Given the description of an element on the screen output the (x, y) to click on. 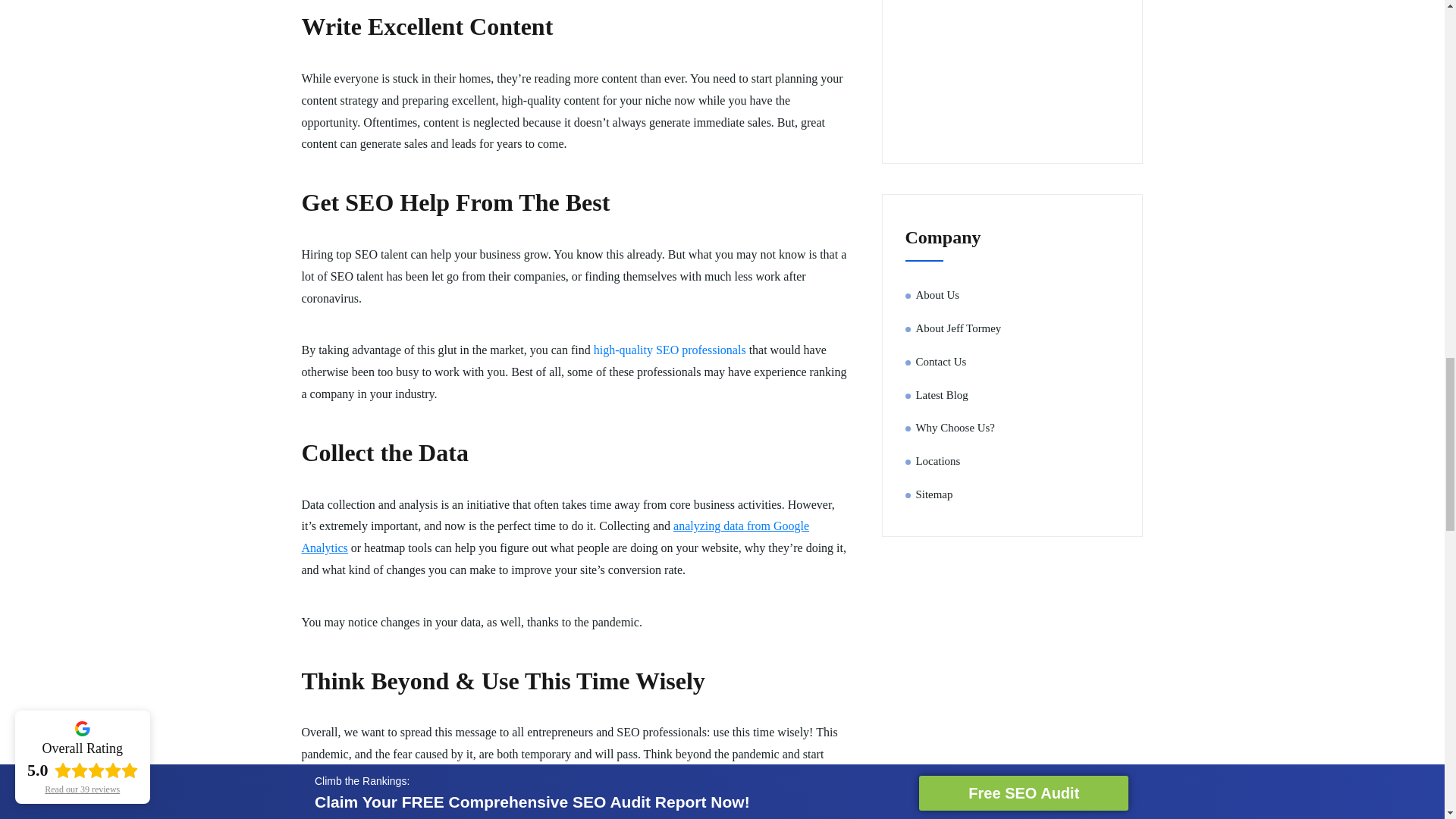
What Is Google Analytics and How Does It Work? (555, 536)
